Given the description of an element on the screen output the (x, y) to click on. 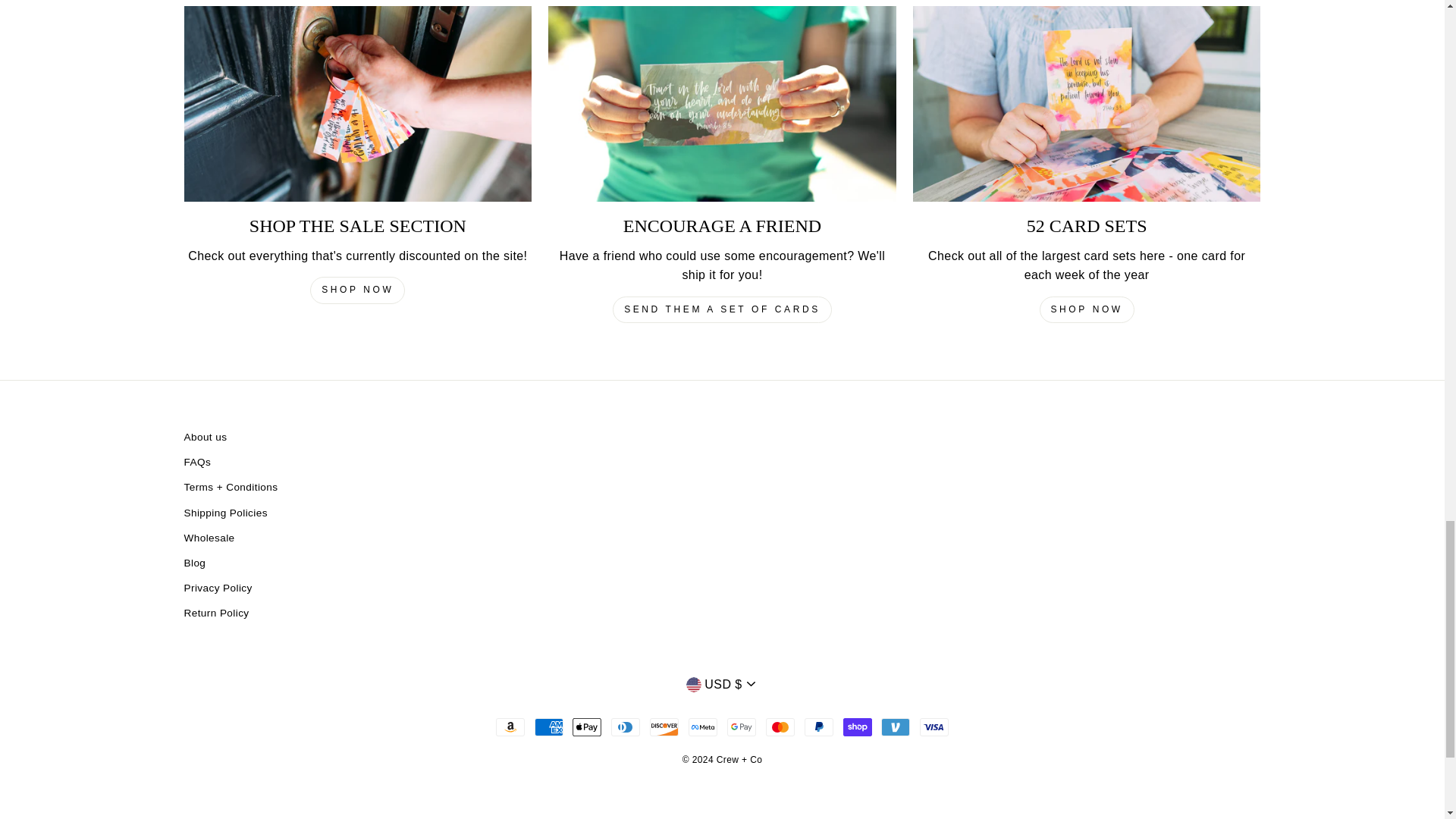
Meta Pay (702, 727)
Mastercard (779, 727)
Amazon (510, 727)
Google Pay (740, 727)
Apple Pay (586, 727)
American Express (548, 727)
Discover (663, 727)
Diners Club (625, 727)
